Given the description of an element on the screen output the (x, y) to click on. 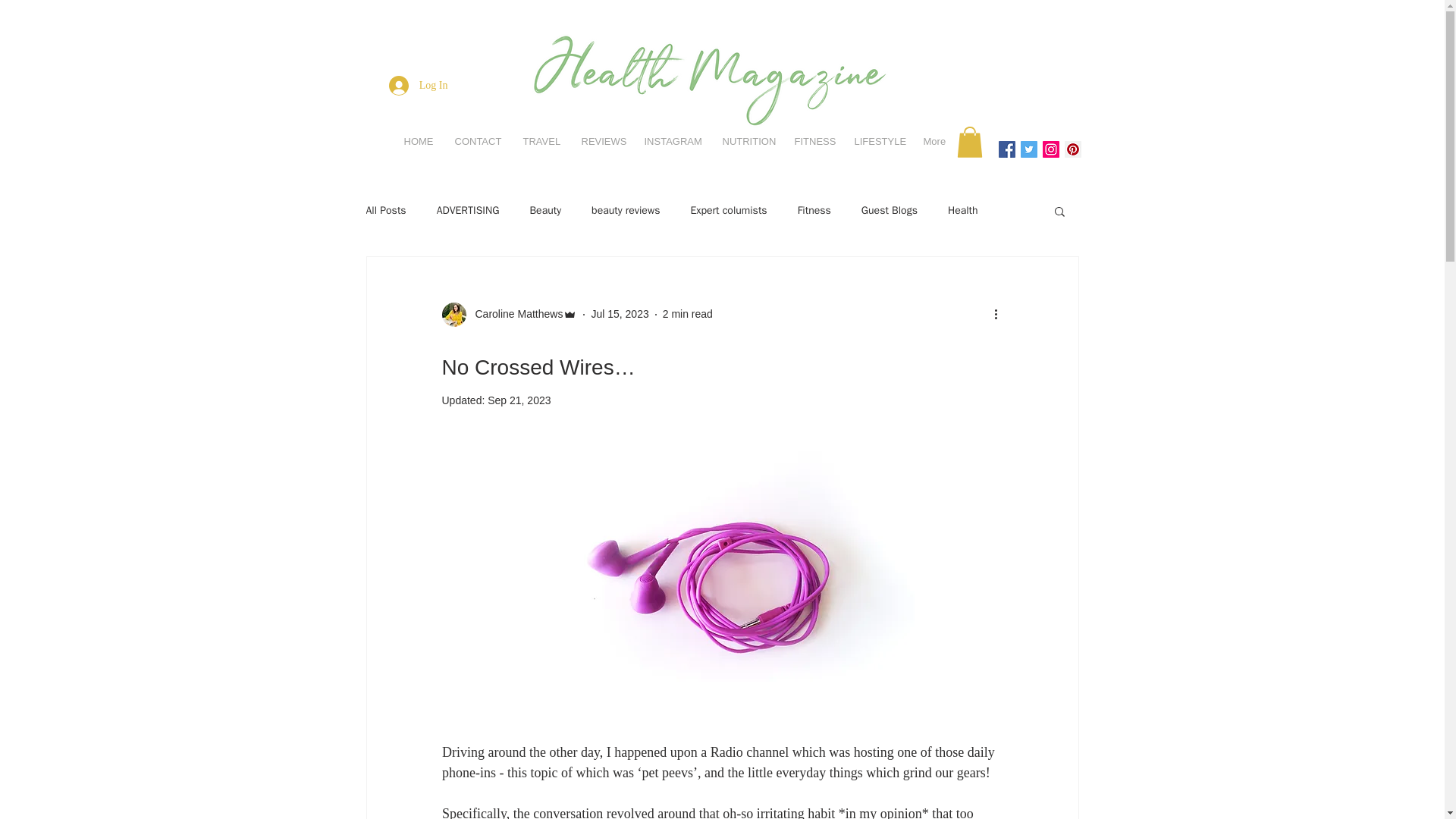
FITNESS (813, 141)
Caroline Matthews (513, 314)
Sep 21, 2023 (518, 399)
TRAVEL (540, 141)
REVIEWS (601, 141)
Guest Blogs (889, 210)
Beauty (544, 210)
HOME (418, 141)
2 min read (687, 313)
CONTACT (476, 141)
beauty reviews (625, 210)
Expert columists (728, 210)
Log In (418, 85)
LIFESTYLE (877, 141)
INSTAGRAM (670, 141)
